Given the description of an element on the screen output the (x, y) to click on. 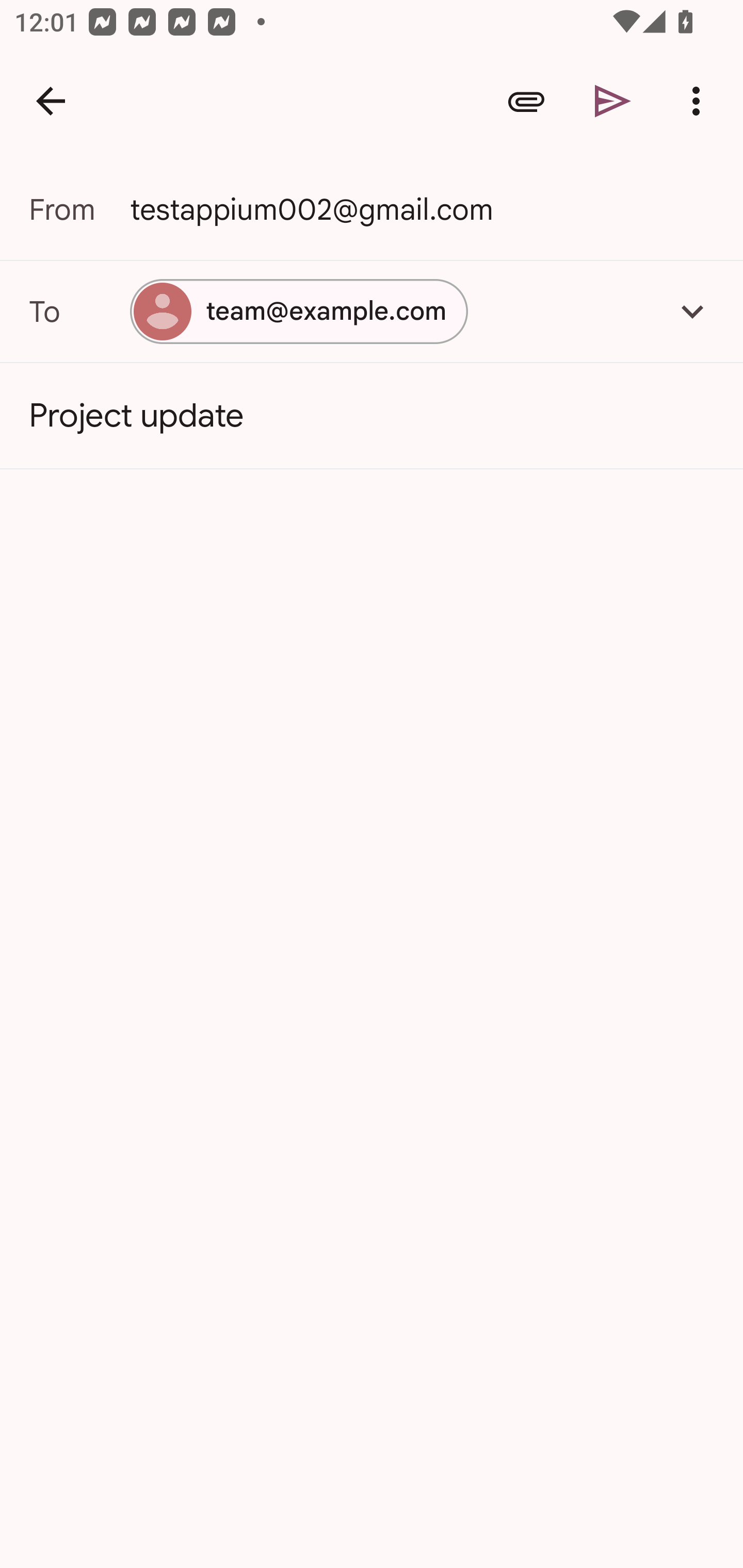
Navigate up (50, 101)
Attach file (525, 101)
Send (612, 101)
More options (699, 101)
From (79, 209)
Add Cc/Bcc (692, 311)
Project update (371, 415)
